Given the description of an element on the screen output the (x, y) to click on. 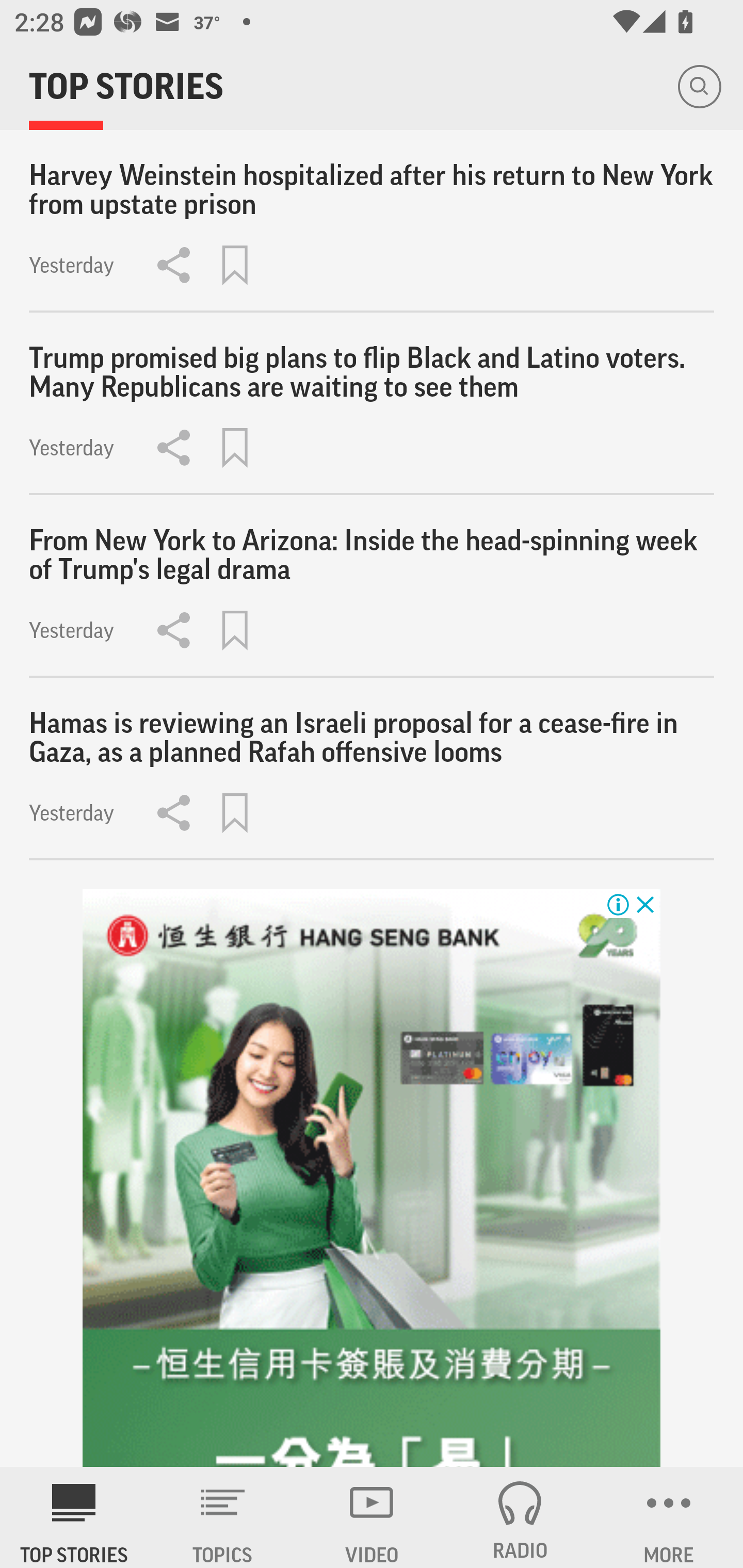
AP News TOP STORIES (74, 1517)
TOPICS (222, 1517)
VIDEO (371, 1517)
RADIO (519, 1517)
MORE (668, 1517)
